Given the description of an element on the screen output the (x, y) to click on. 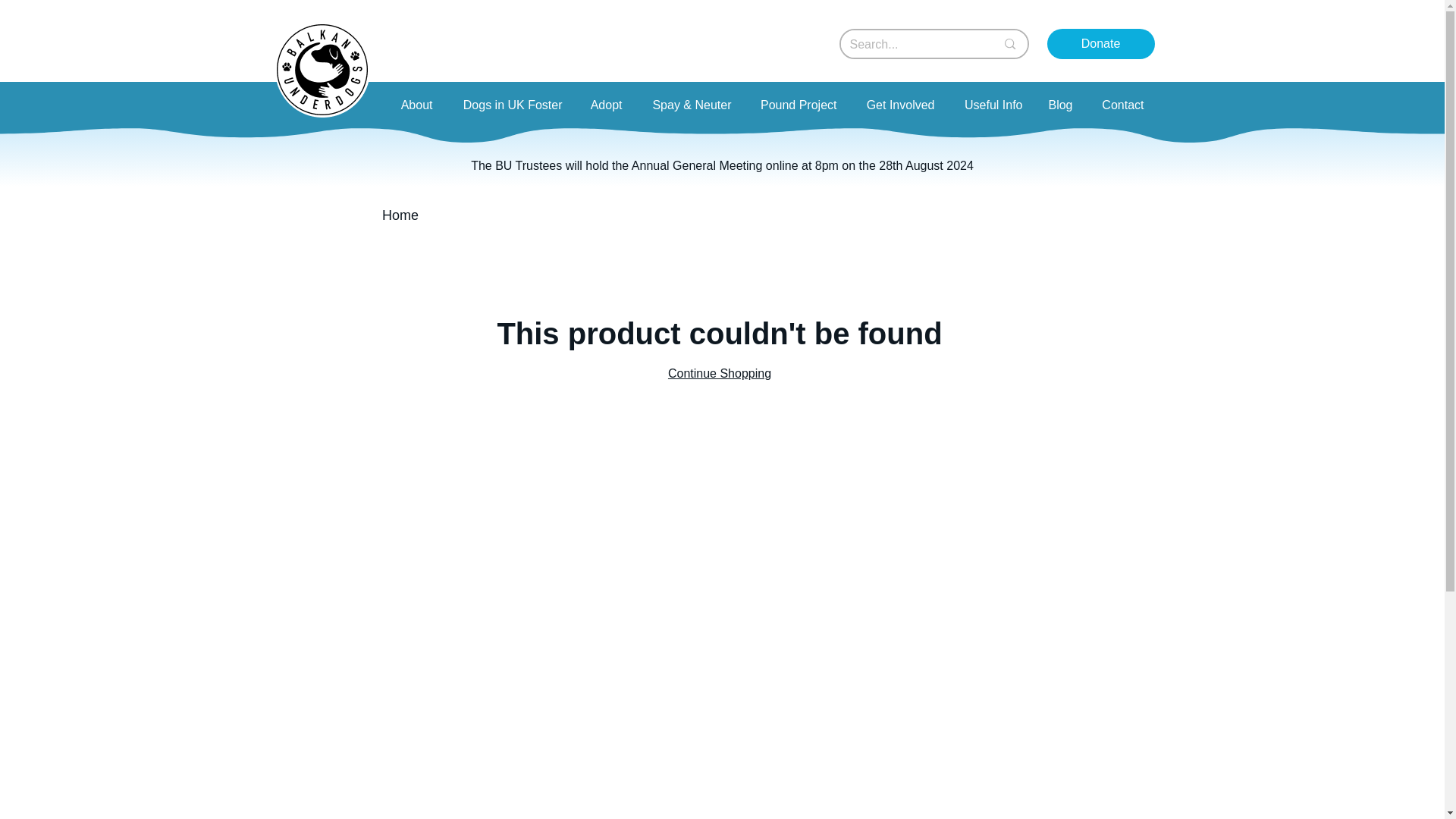
Donate (1100, 43)
Useful Info (989, 104)
Continue Shopping (719, 373)
Home (400, 215)
Get Involved (895, 104)
Adopt (603, 104)
Contact (1120, 104)
Blog (1058, 104)
Pound Project (795, 104)
About (414, 104)
